Given the description of an element on the screen output the (x, y) to click on. 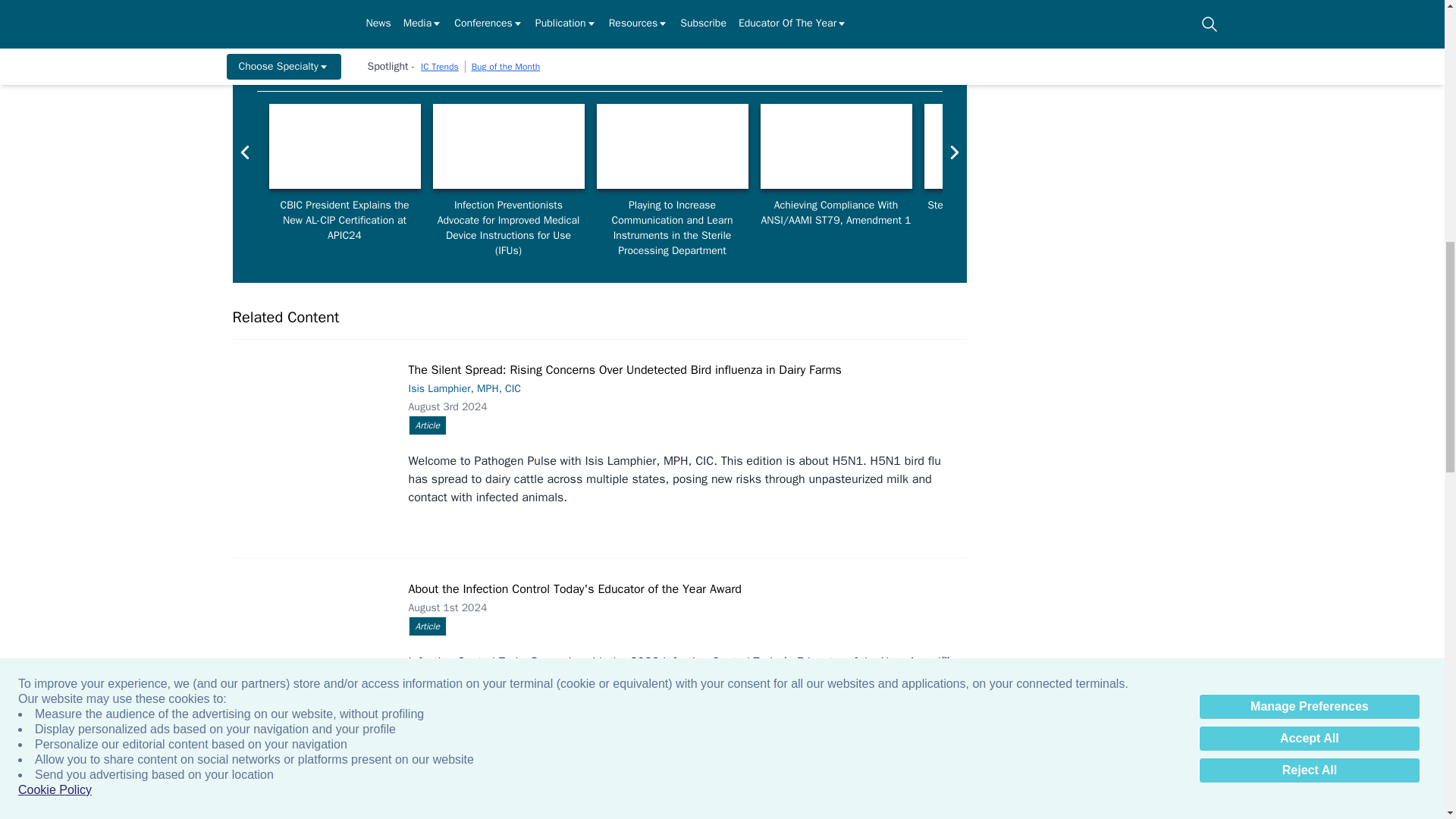
Jill Holdsworth, MS, CIC, FAPIC, CRCST, NREMT, CHL (835, 146)
